Given the description of an element on the screen output the (x, y) to click on. 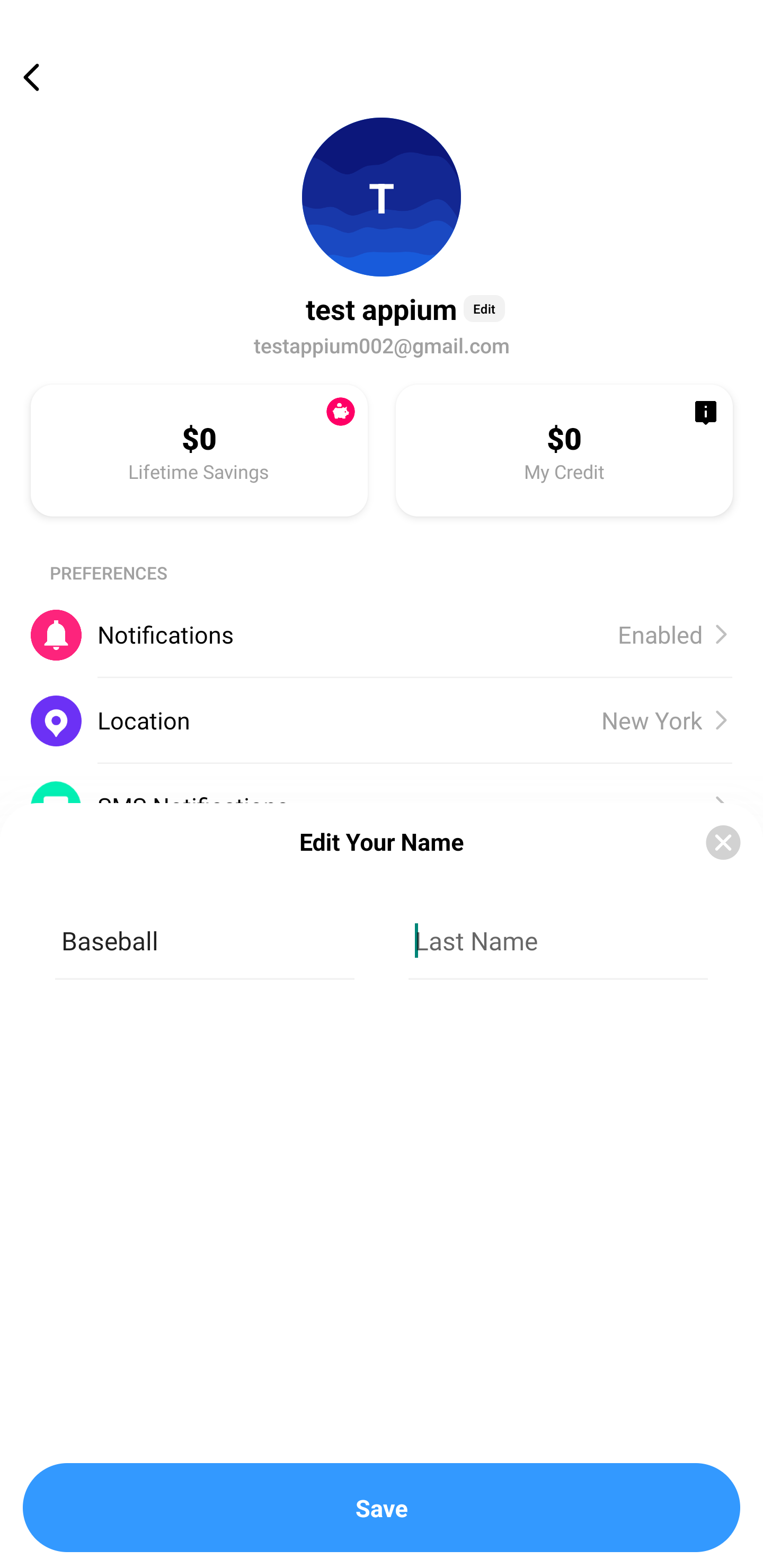
Baseball (204, 940)
Last Name (558, 940)
Save (381, 1507)
